Given the description of an element on the screen output the (x, y) to click on. 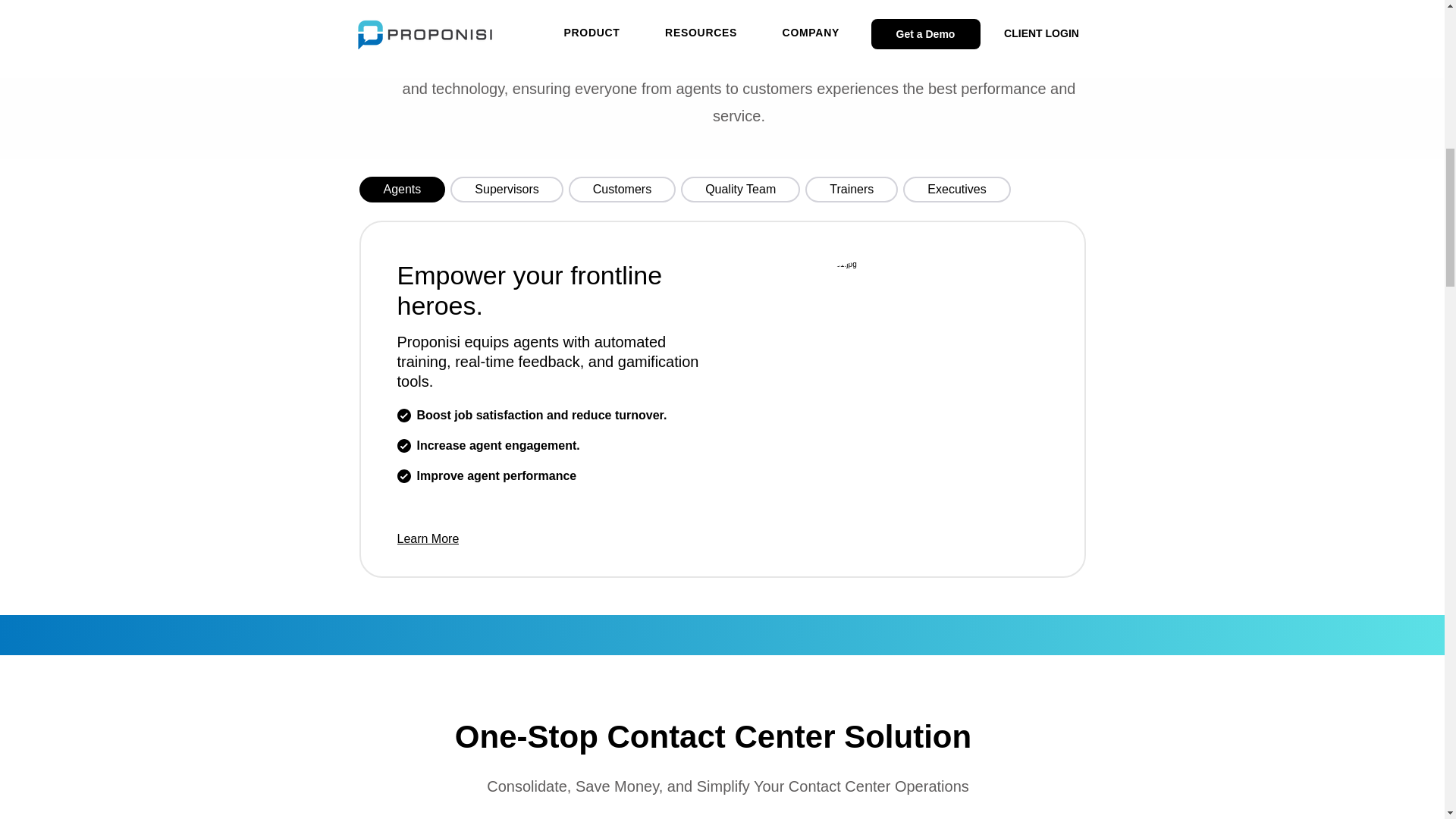
Learn More (436, 538)
guy4.jpg (876, 392)
